Given the description of an element on the screen output the (x, y) to click on. 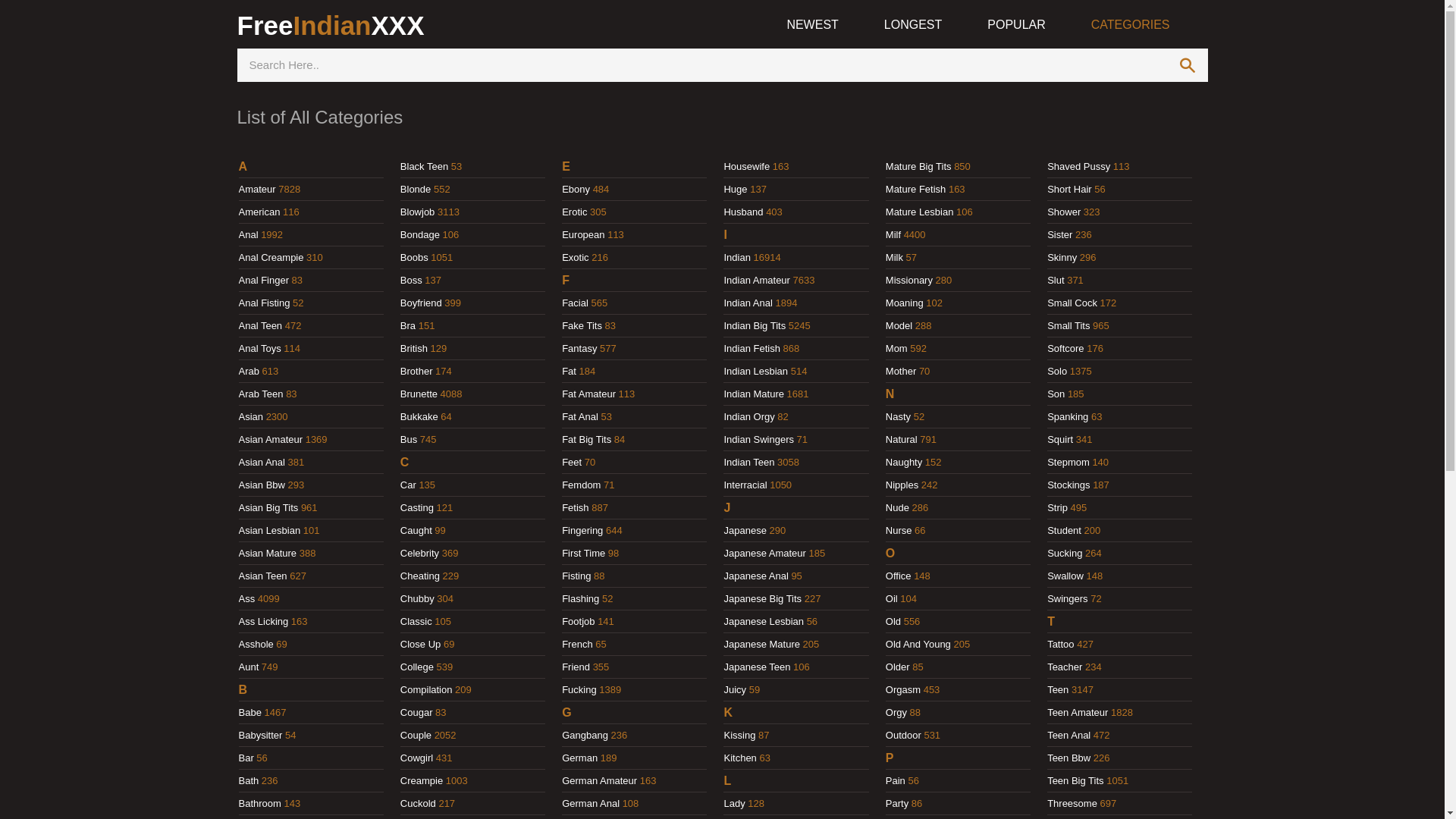
Juicy Element type: text (734, 689)
Japanese Mature Element type: text (761, 643)
Teen Big Tits Element type: text (1075, 780)
Lady Element type: text (733, 803)
NEWEST Element type: text (812, 25)
FreeIndianXXX Element type: text (329, 25)
Japanese Anal Element type: text (755, 575)
Chubby Element type: text (417, 598)
Mature Fetish Element type: text (915, 188)
Nasty Element type: text (897, 416)
Oil Element type: text (891, 598)
Asian Teen Element type: text (262, 575)
Cougar Element type: text (416, 712)
Housewife Element type: text (746, 166)
Small Cock Element type: text (1072, 302)
LONGEST Element type: text (913, 25)
Indian Amateur Element type: text (756, 279)
Blowjob Element type: text (417, 211)
Cowgirl Element type: text (416, 757)
Swallow Element type: text (1065, 575)
Bus Element type: text (408, 439)
Kitchen Element type: text (739, 757)
Aunt Element type: text (248, 666)
Outdoor Element type: text (903, 734)
Model Element type: text (898, 325)
British Element type: text (413, 348)
Mom Element type: text (896, 348)
Skinny Element type: text (1061, 257)
Husband Element type: text (742, 211)
First Time Element type: text (583, 552)
Exotic Element type: text (574, 257)
Car Element type: text (408, 484)
Asshole Element type: text (255, 643)
Bathroom Element type: text (259, 803)
Teen Anal Element type: text (1068, 734)
Anal Toys Element type: text (259, 348)
Japanese Teen Element type: text (756, 666)
Spanking Element type: text (1067, 416)
Asian Element type: text (250, 416)
Teacher Element type: text (1064, 666)
Sister Element type: text (1059, 234)
Anal Teen Element type: text (260, 325)
Son Element type: text (1055, 393)
Stockings Element type: text (1068, 484)
Old And Young Element type: text (917, 643)
Footjob Element type: text (577, 621)
Feet Element type: text (571, 461)
Femdom Element type: text (580, 484)
Asian Mature Element type: text (267, 552)
Bar Element type: text (245, 757)
French Element type: text (576, 643)
Solo Element type: text (1056, 370)
Casting Element type: text (416, 507)
Fake Tits Element type: text (581, 325)
American Element type: text (258, 211)
Friend Element type: text (575, 666)
Celebrity Element type: text (419, 552)
College Element type: text (416, 666)
Swingers Element type: text (1067, 598)
Fucking Element type: text (578, 689)
Fat Anal Element type: text (579, 416)
Stepmom Element type: text (1068, 461)
Teen Element type: text (1057, 689)
Fat Big Tits Element type: text (586, 439)
Couple Element type: text (415, 734)
Indian Fetish Element type: text (751, 348)
Indian Orgy Element type: text (748, 416)
Compilation Element type: text (426, 689)
Japanese Big Tits Element type: text (762, 598)
Milk Element type: text (894, 257)
Shaved Pussy Element type: text (1078, 166)
European Element type: text (582, 234)
Old Element type: text (892, 621)
Brunette Element type: text (418, 393)
Fantasy Element type: text (578, 348)
Indian Element type: text (736, 257)
Anal Element type: text (247, 234)
Bath Element type: text (248, 780)
Pain Element type: text (895, 780)
Classic Element type: text (416, 621)
Ass Element type: text (246, 598)
Bra Element type: text (407, 325)
Small Tits Element type: text (1068, 325)
Ass Licking Element type: text (263, 621)
Short Hair Element type: text (1069, 188)
Indian Teen Element type: text (748, 461)
Erotic Element type: text (573, 211)
Facial Element type: text (574, 302)
Bondage Element type: text (419, 234)
Huge Element type: text (734, 188)
Teen Bbw Element type: text (1068, 757)
German Element type: text (579, 757)
German Anal Element type: text (590, 803)
Fisting Element type: text (575, 575)
Softcore Element type: text (1065, 348)
Older Element type: text (897, 666)
Use Latin letters, digits, space, - Element type: hover (701, 64)
Fat Amateur Element type: text (588, 393)
Office Element type: text (898, 575)
Sucking Element type: text (1064, 552)
Squirt Element type: text (1060, 439)
Nurse Element type: text (898, 530)
Indian Mature Element type: text (753, 393)
Anal Fisting Element type: text (263, 302)
Close Up Element type: text (420, 643)
Shower Element type: text (1063, 211)
Asian Anal Element type: text (261, 461)
Nipples Element type: text (901, 484)
Interracial Element type: text (744, 484)
Mature Lesbian Element type: text (919, 211)
Cuckold Element type: text (418, 803)
Indian Anal Element type: text (747, 302)
Threesome Element type: text (1072, 803)
Tattoo Element type: text (1060, 643)
Babe Element type: text (249, 712)
Milf Element type: text (892, 234)
Fetish Element type: text (574, 507)
Mature Big Tits Element type: text (918, 166)
Gangbang Element type: text (584, 734)
Boss Element type: text (411, 279)
Blonde Element type: text (415, 188)
Asian Lesbian Element type: text (269, 530)
Mother Element type: text (900, 370)
Boyfriend Element type: text (421, 302)
Boobs Element type: text (414, 257)
Teen Amateur Element type: text (1077, 712)
Brother Element type: text (416, 370)
Kissing Element type: text (739, 734)
Japanese Element type: text (744, 530)
Babysitter Element type: text (260, 734)
Strip Element type: text (1057, 507)
Bukkake Element type: text (419, 416)
Anal Creampie Element type: text (270, 257)
Orgy Element type: text (895, 712)
Indian Swingers Element type: text (758, 439)
Asian Big Tits Element type: text (268, 507)
Amateur Element type: text (256, 188)
Party Element type: text (896, 803)
Anal Finger Element type: text (263, 279)
Nude Element type: text (897, 507)
Flashing Element type: text (580, 598)
Japanese Lesbian Element type: text (763, 621)
Natural Element type: text (901, 439)
Indian Big Tits Element type: text (754, 325)
Creampie Element type: text (421, 780)
Black Teen Element type: text (424, 166)
Moaning Element type: text (904, 302)
Fat Element type: text (568, 370)
Ebony Element type: text (575, 188)
Japanese Amateur Element type: text (764, 552)
Asian Amateur Element type: text (270, 439)
German Amateur Element type: text (599, 780)
POPULAR Element type: text (1016, 25)
Indian Lesbian Element type: text (755, 370)
Caught Element type: text (416, 530)
Fingering Element type: text (581, 530)
Naughty Element type: text (903, 461)
Slut Element type: text (1055, 279)
Arab Teen Element type: text (260, 393)
Student Element type: text (1064, 530)
Orgasm Element type: text (902, 689)
Asian Bbw Element type: text (261, 484)
Cheating Element type: text (419, 575)
Arab Element type: text (248, 370)
Missionary Element type: text (908, 279)
